Given the description of an element on the screen output the (x, y) to click on. 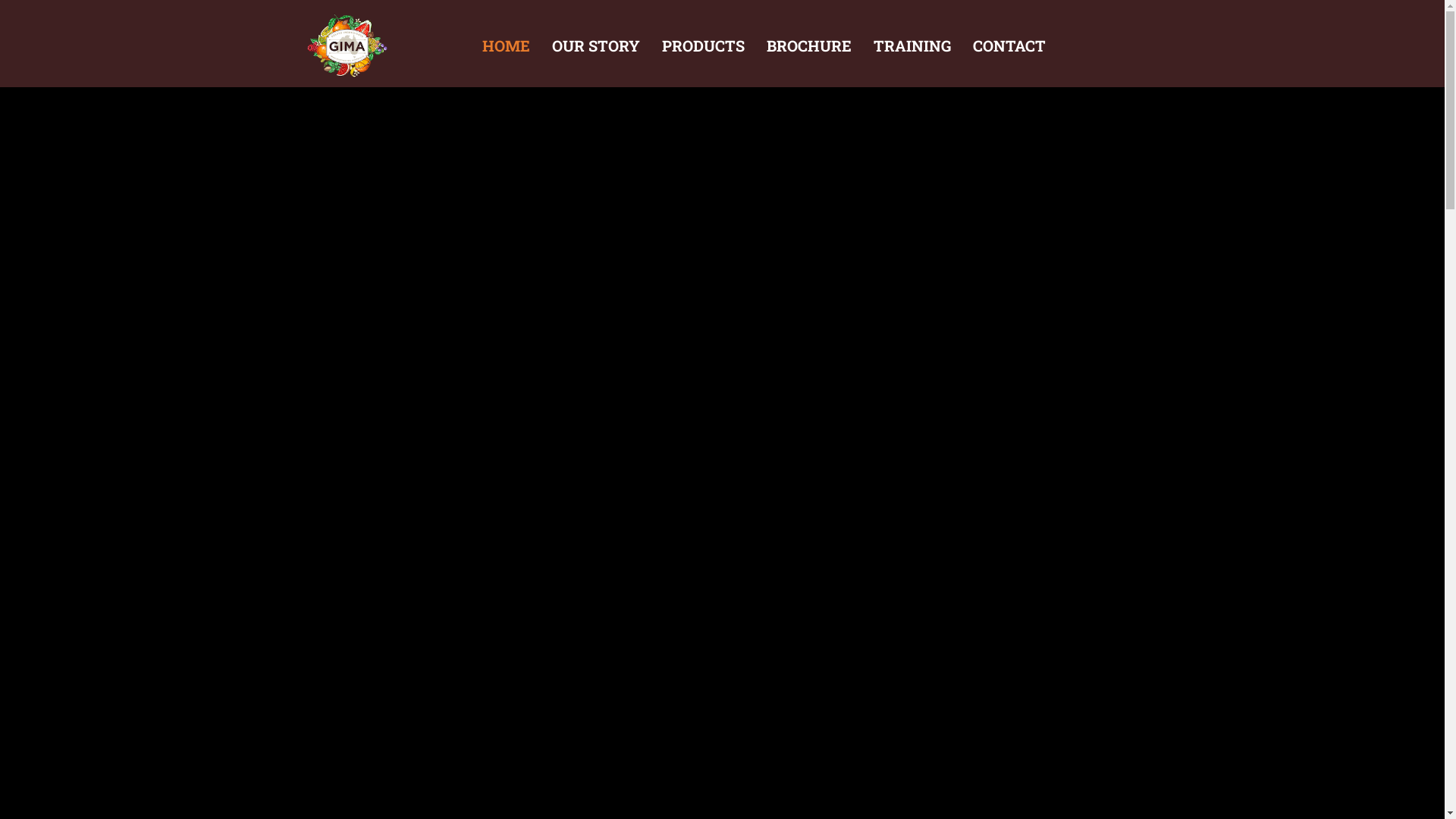
BROCHURE Element type: text (809, 45)
CONTACT Element type: text (1009, 45)
TRAINING Element type: text (911, 45)
GIMA_Full_Logo Element type: hover (346, 45)
PRODUCTS Element type: text (703, 45)
OUR STORY Element type: text (595, 45)
HOME Element type: text (505, 45)
